Given the description of an element on the screen output the (x, y) to click on. 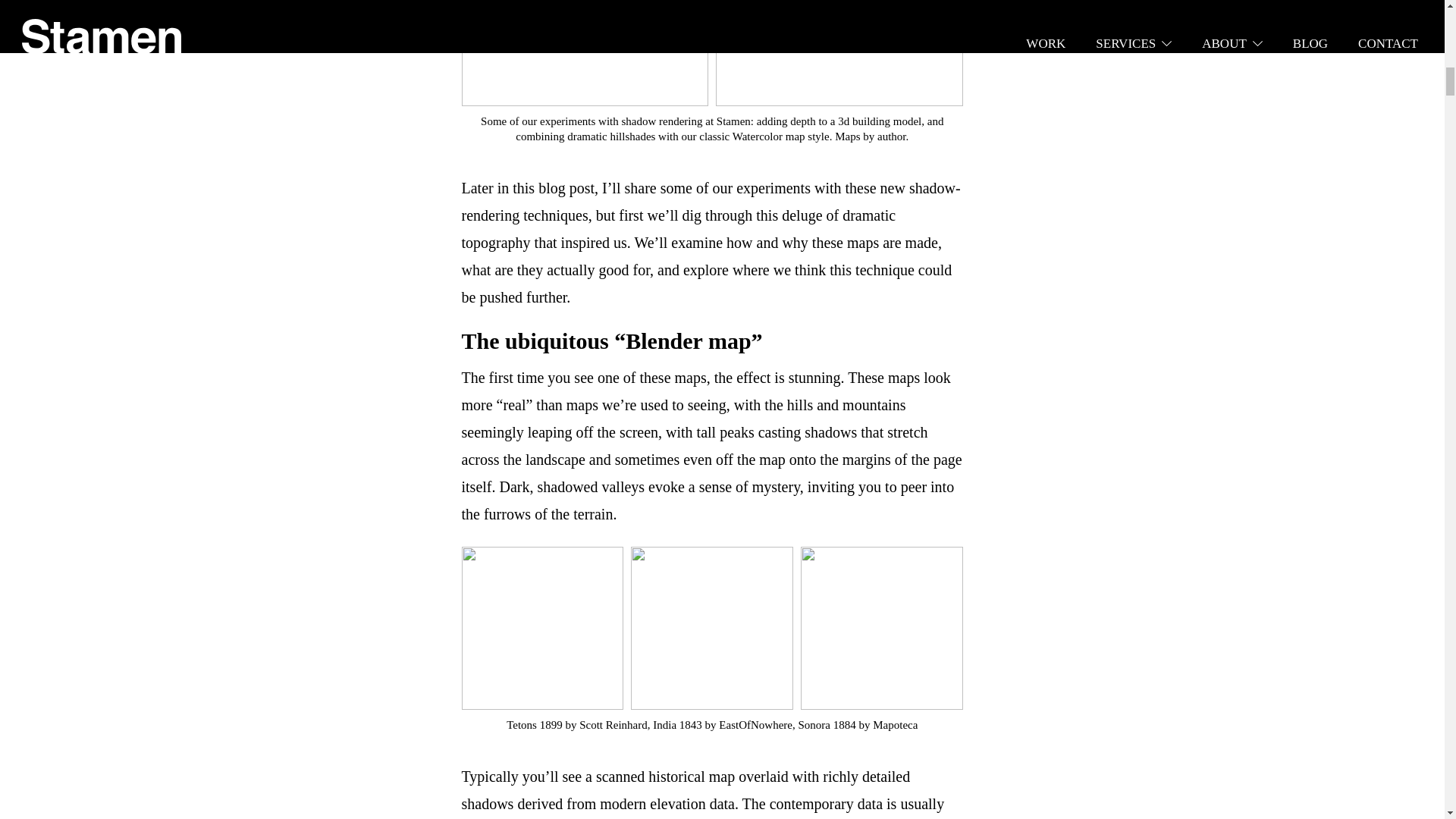
Tetons 1899 (534, 725)
India 1843 (676, 725)
Sonora 1884 (826, 725)
